Given the description of an element on the screen output the (x, y) to click on. 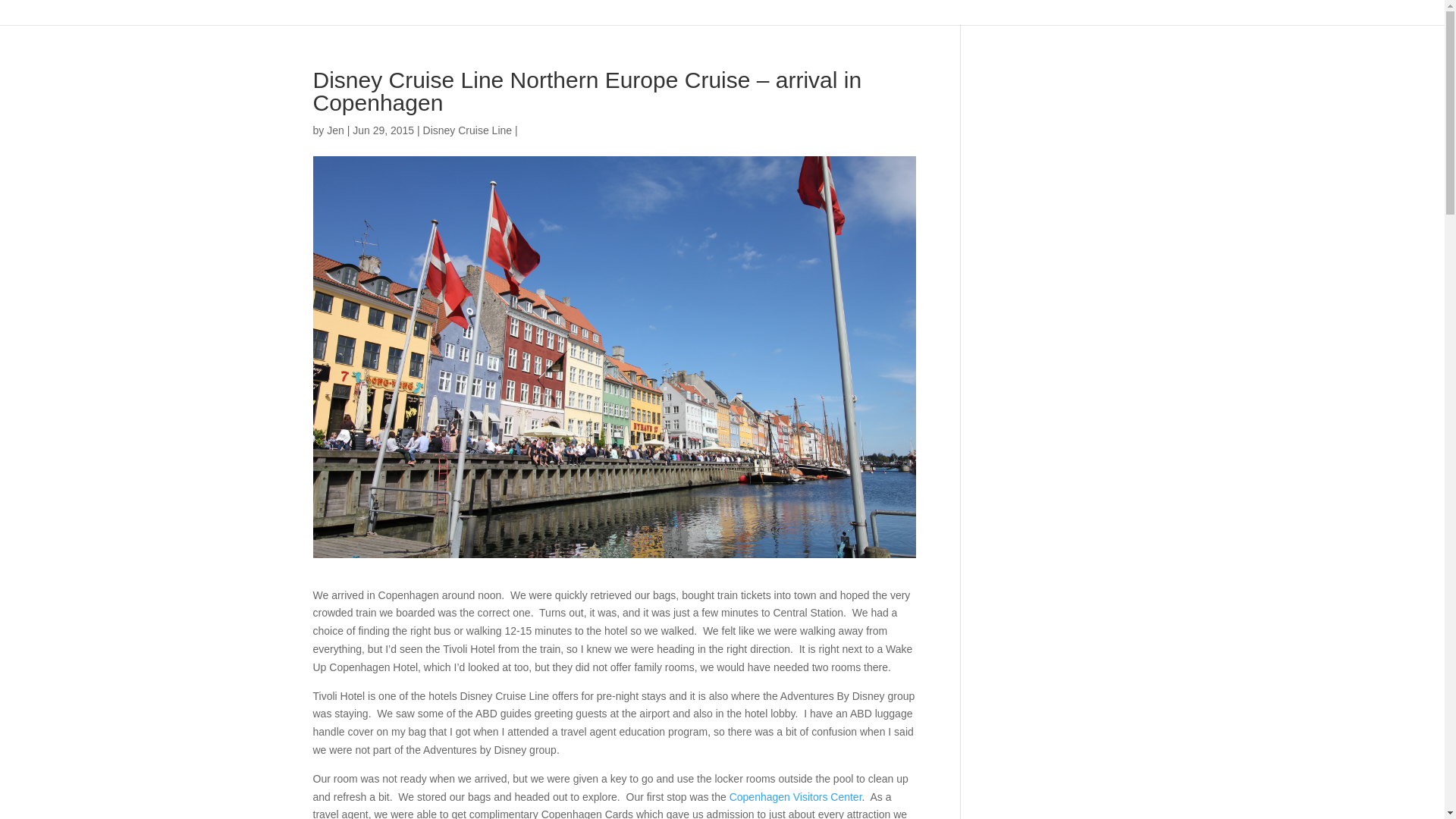
Posts by Jen (334, 130)
Disney Cruise Line (467, 130)
Copenhagen Visitors Center (795, 797)
Jen (334, 130)
